Given the description of an element on the screen output the (x, y) to click on. 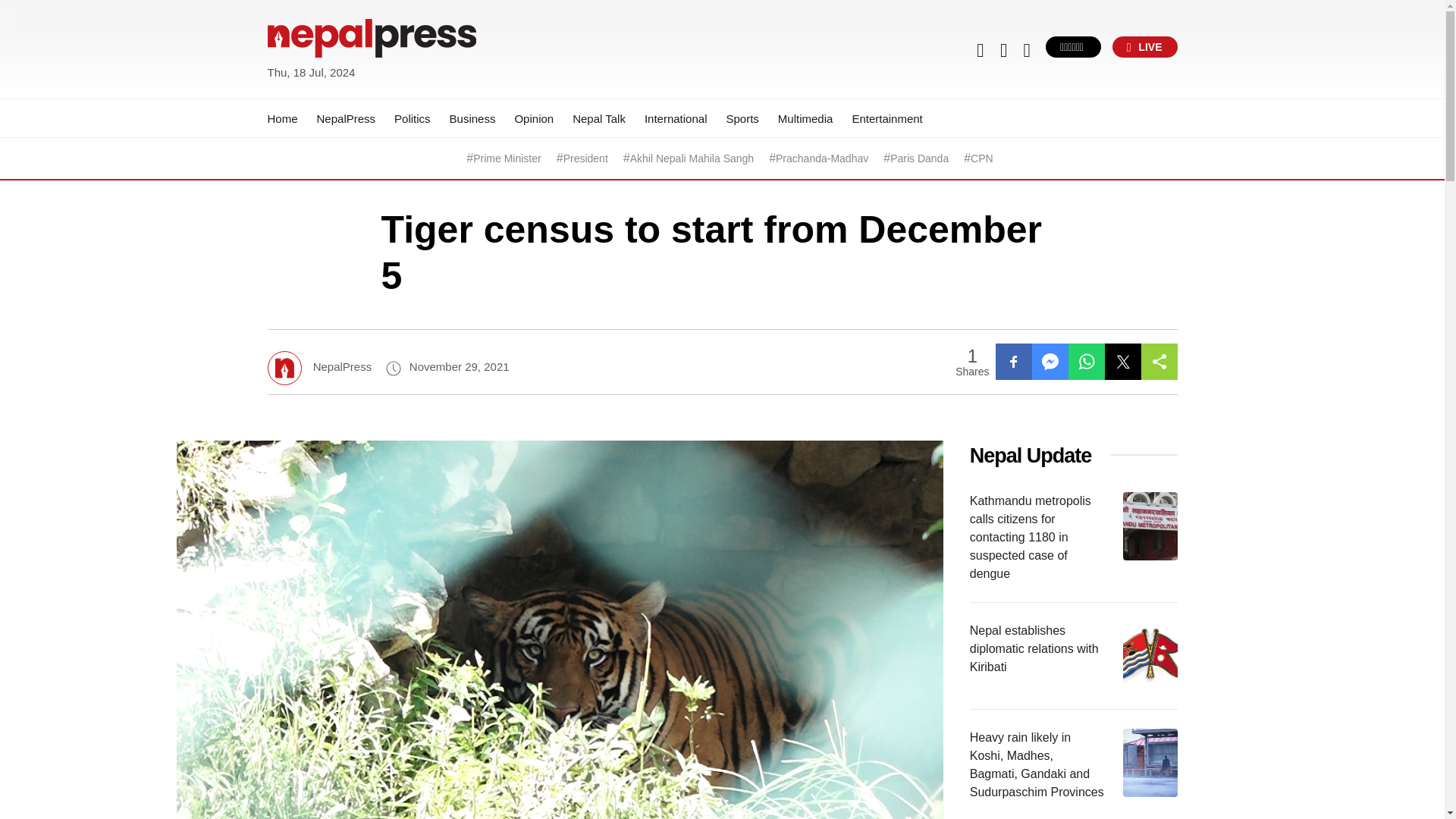
Prime Minister (506, 158)
Nepal Press (303, 91)
Business (472, 118)
CPN (981, 158)
Paris Danda (919, 158)
LIVE (1144, 46)
President (585, 158)
NepalPress (346, 118)
Prachanda-Madhav (821, 158)
Politics (412, 118)
CPN (981, 158)
Akhil Nepali Mahila Sangh (692, 158)
President (585, 158)
Prime Minister (506, 158)
Paris Danda (919, 158)
